Given the description of an element on the screen output the (x, y) to click on. 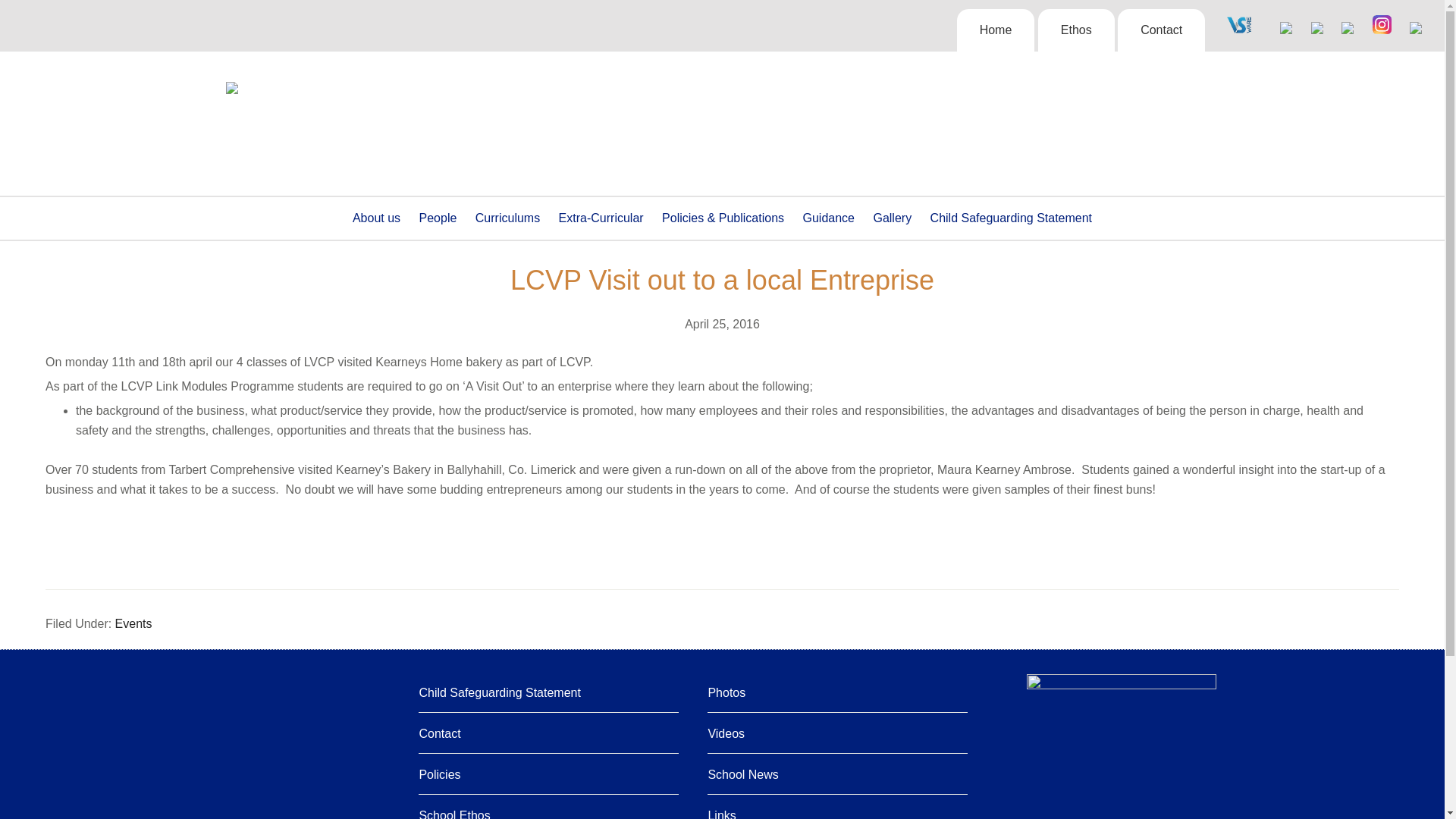
About us (376, 218)
Extra-Curricular (600, 218)
Curriculums (507, 218)
Home (995, 30)
People (438, 218)
Contact (1161, 30)
Ethos (1076, 30)
